Given the description of an element on the screen output the (x, y) to click on. 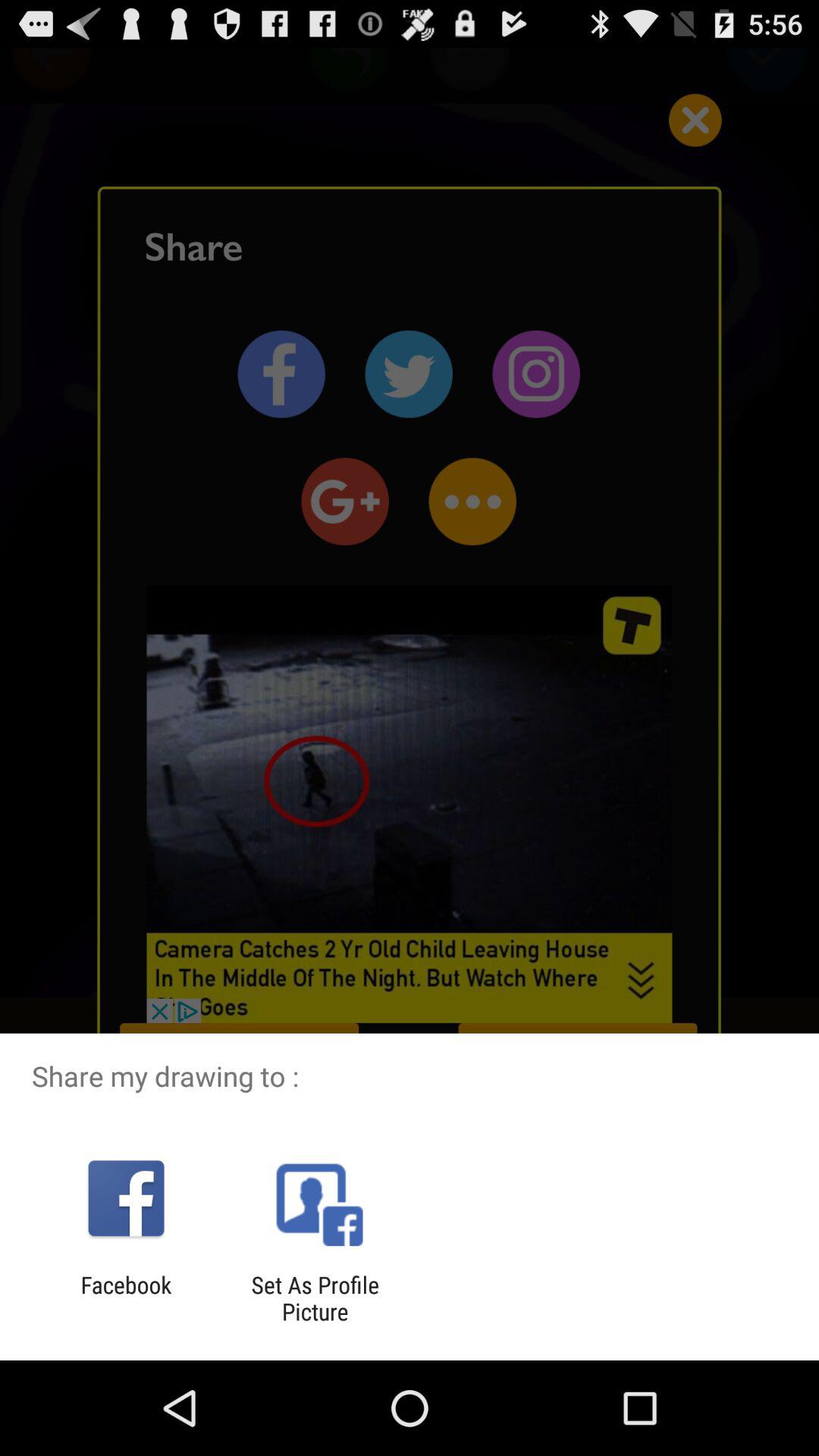
turn off facebook app (125, 1298)
